Given the description of an element on the screen output the (x, y) to click on. 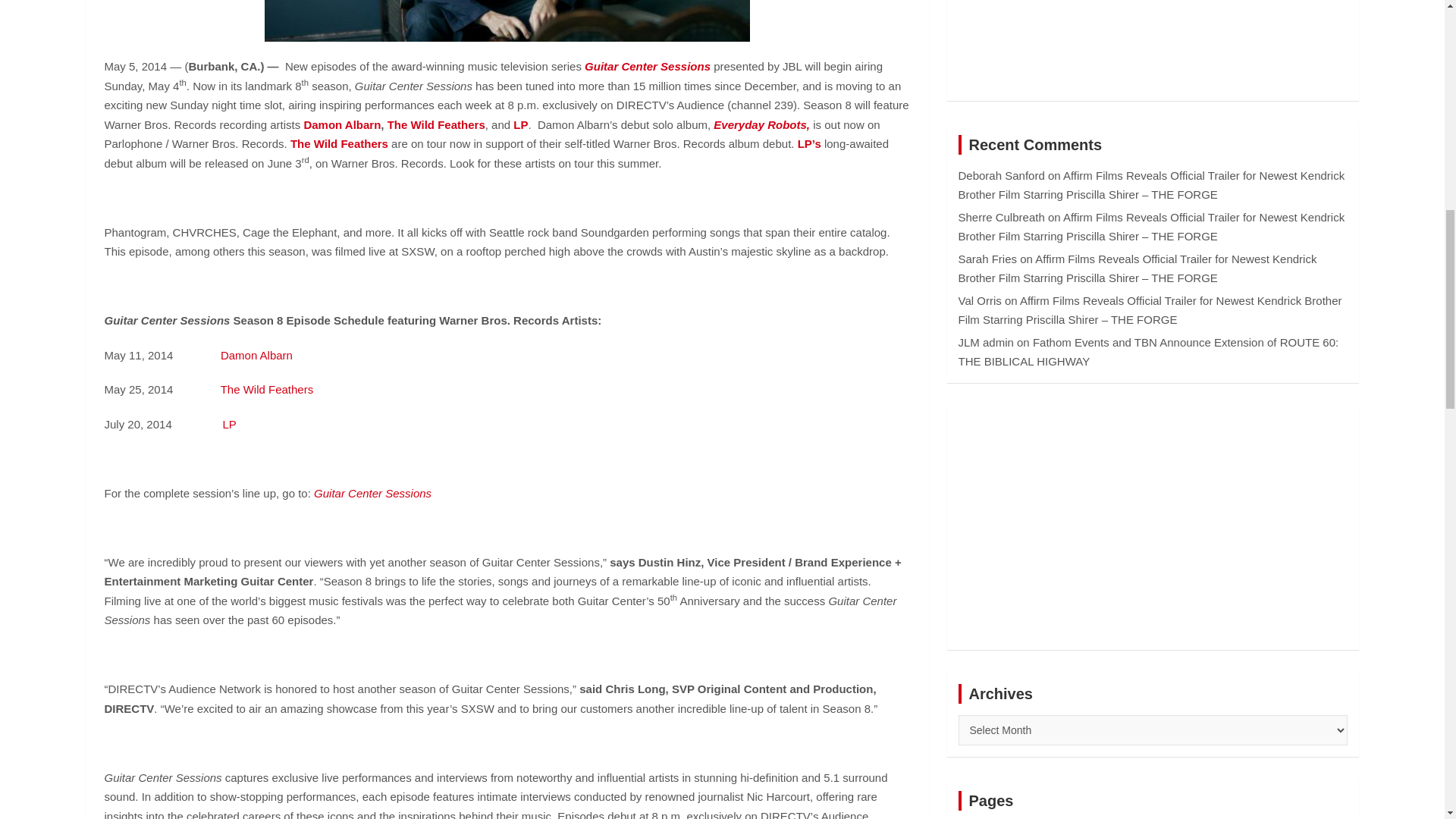
Guitar Center Sessions (647, 65)
Everyday Robots, (761, 124)
The Wild Feathers (435, 124)
LP (520, 124)
The Wild Feathers (267, 389)
Guitar Center Sessions (372, 492)
Damon Albarn (256, 354)
The Wild Feathers (338, 143)
Damon Albarn (341, 124)
LP (228, 423)
